Given the description of an element on the screen output the (x, y) to click on. 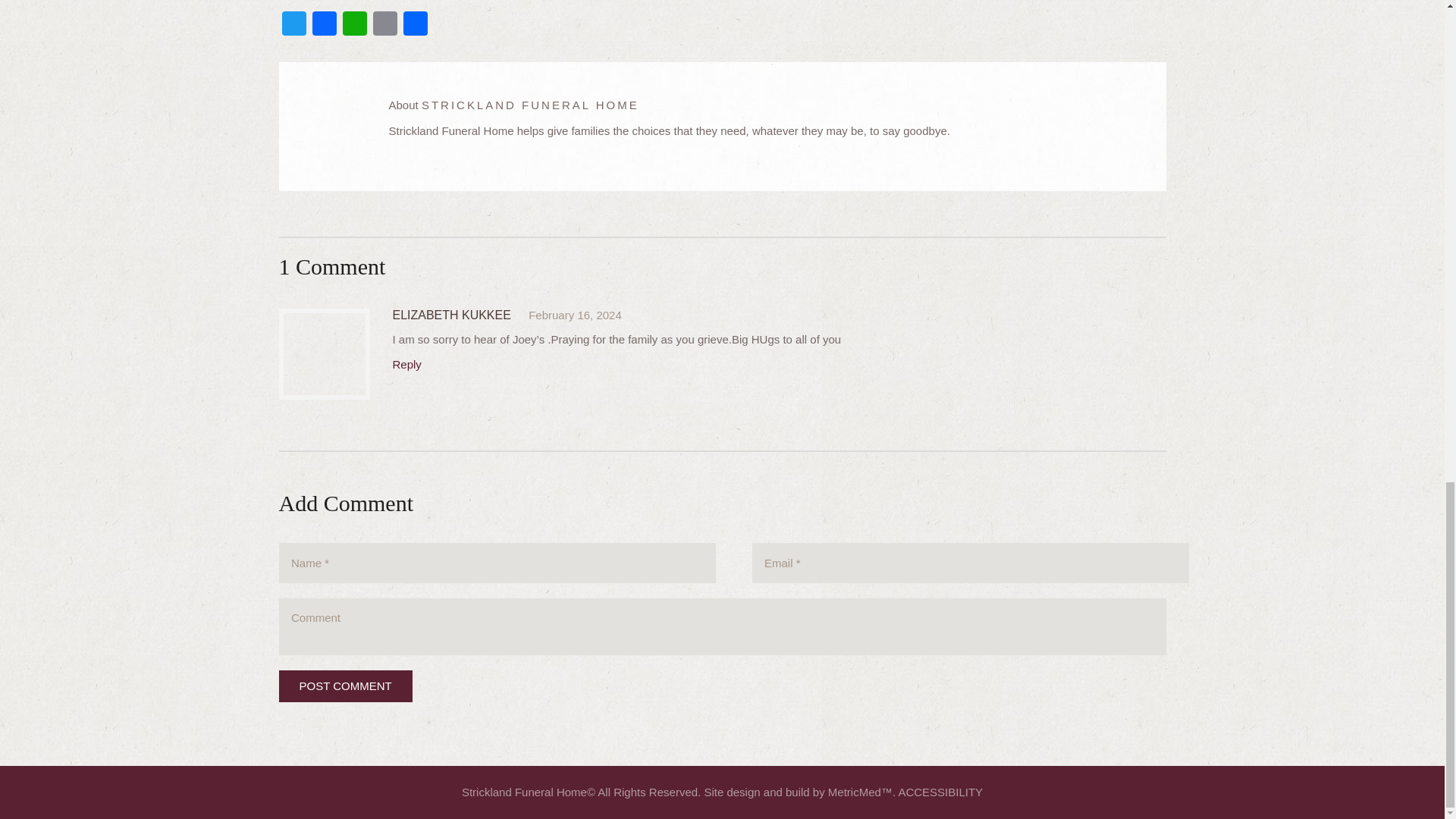
Facebook (323, 25)
Post Comment (345, 686)
Twitter (293, 25)
WhatsApp (354, 25)
Email (384, 25)
